Given the description of an element on the screen output the (x, y) to click on. 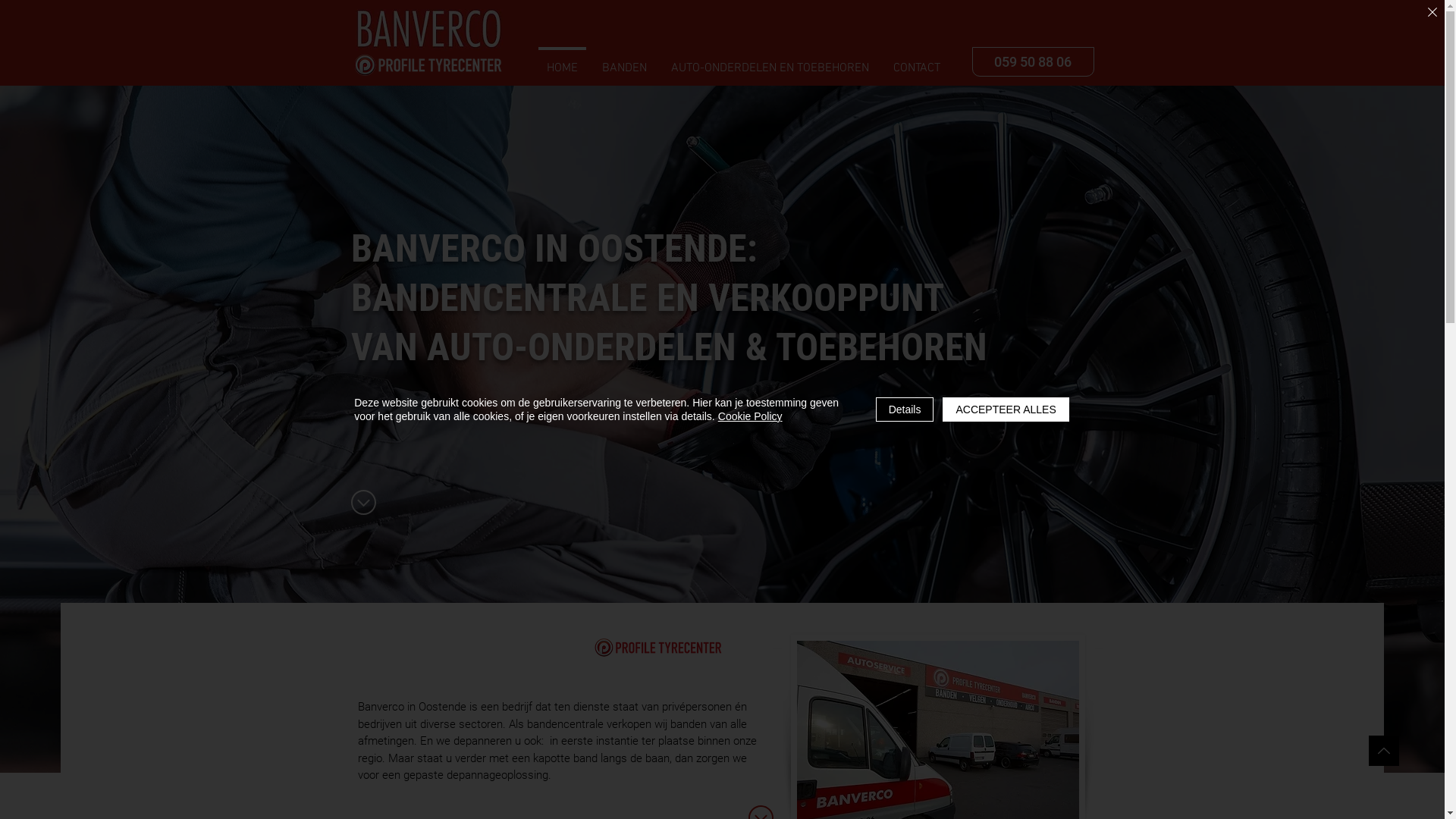
CONTACT Element type: text (916, 61)
Details Element type: text (904, 409)
BANDEN Element type: text (623, 61)
059 50 88 06 Element type: text (1033, 61)
Cookie Policy Element type: text (750, 416)
AUTO-ONDERDELEN EN TOEBEHOREN Element type: text (769, 61)
ACCEPTEER ALLES Element type: text (1005, 409)
Banvero Element type: hover (428, 29)
HOME Element type: text (561, 61)
